Given the description of an element on the screen output the (x, y) to click on. 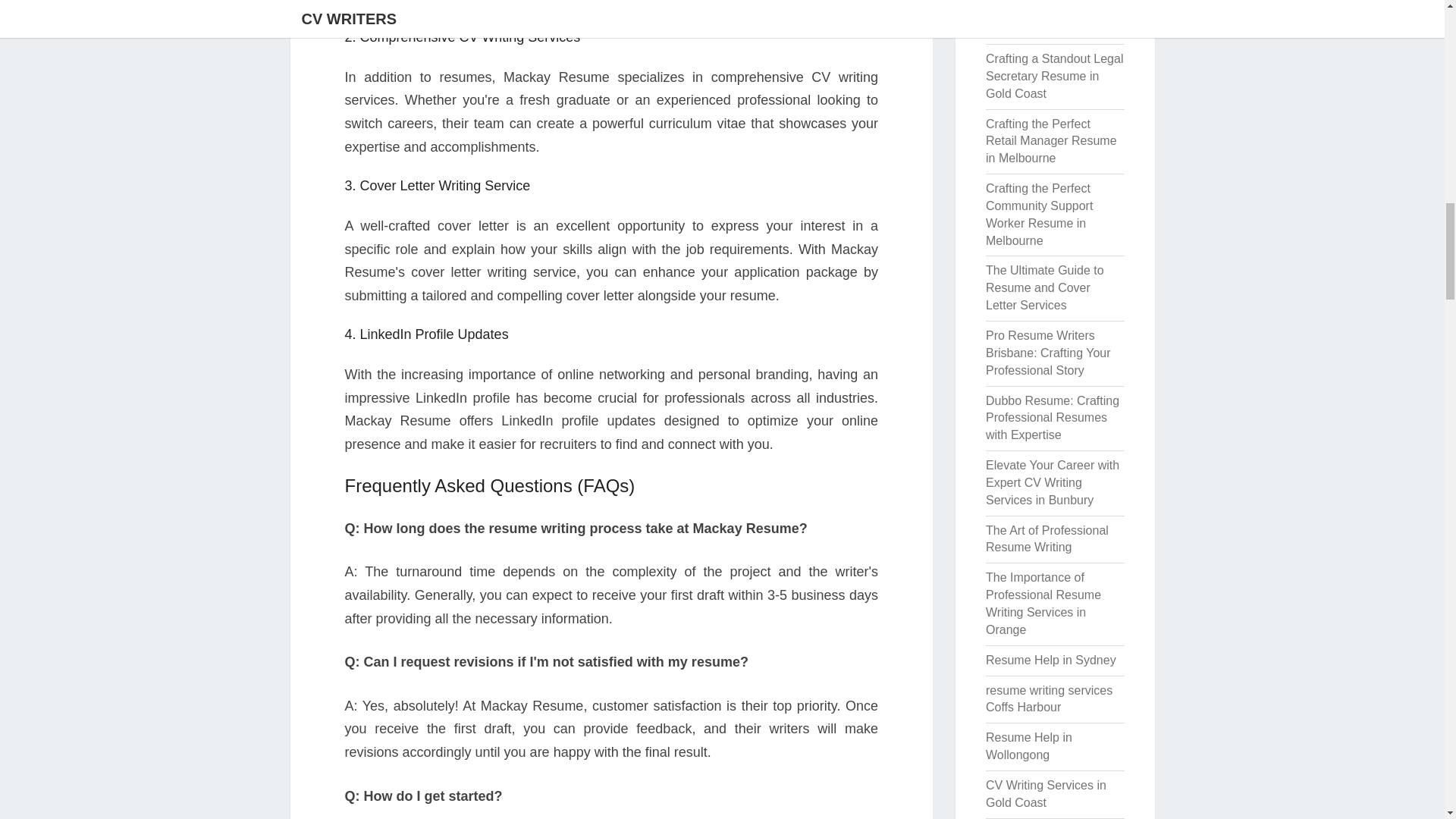
The Art of Professional Resume Writing (1046, 539)
Crafting the Perfect Retail Manager Resume in Melbourne (1050, 141)
Crafting Your Perfect Executive Assistant Resume in Brisbane (1041, 18)
Dubbo Resume: Crafting Professional Resumes with Expertise (1052, 417)
Crafting a Standout Legal Secretary Resume in Gold Coast (1053, 75)
The Ultimate Guide to Resume and Cover Letter Services (1044, 287)
